Given the description of an element on the screen output the (x, y) to click on. 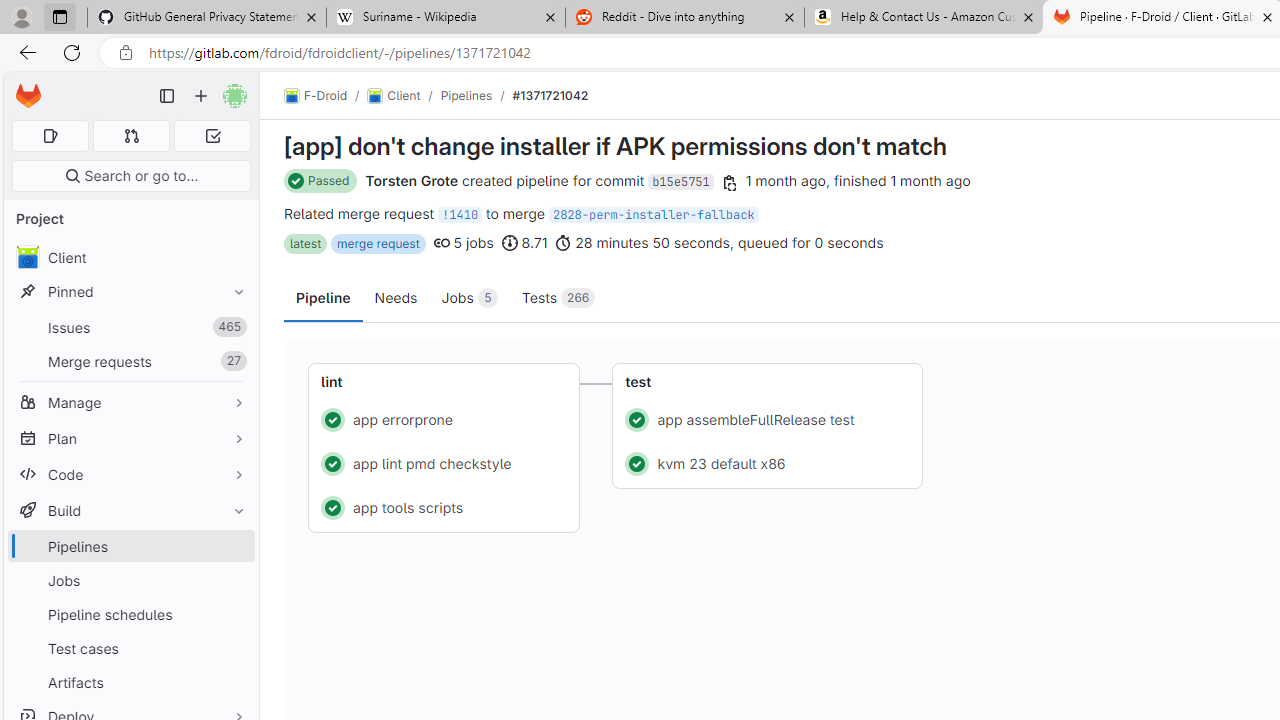
Merge requests27 (130, 361)
Status: Passed app assembleFullRelease test (767, 418)
Pin Artifacts (234, 682)
Merge requests 0 (131, 136)
Plan (130, 438)
Test cases (130, 648)
2828-perm-installer-fallback (653, 214)
b15e5751 (680, 182)
Test cases (130, 648)
Homepage (27, 96)
Plan (130, 438)
Unpin Issues (234, 327)
Status: Passed app tools scripts (444, 506)
Issues 465 (130, 327)
